Given the description of an element on the screen output the (x, y) to click on. 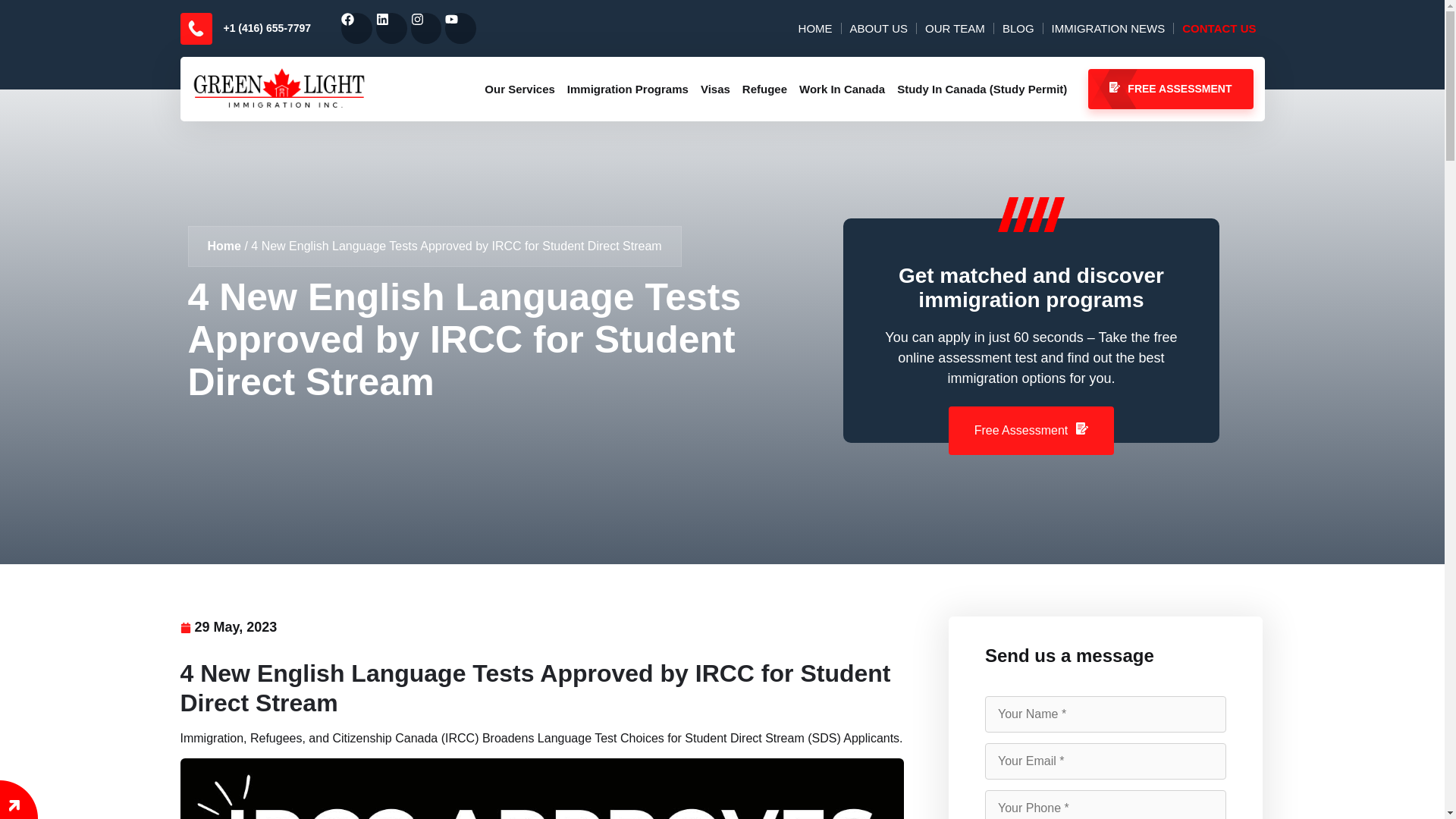
BLOG (1018, 28)
HOME (815, 28)
ABOUT US (878, 28)
CONTACT US (1218, 28)
OUR TEAM (954, 28)
Our Services (519, 88)
IMMIGRATION NEWS (1108, 28)
Immigration Programs (627, 88)
